Given the description of an element on the screen output the (x, y) to click on. 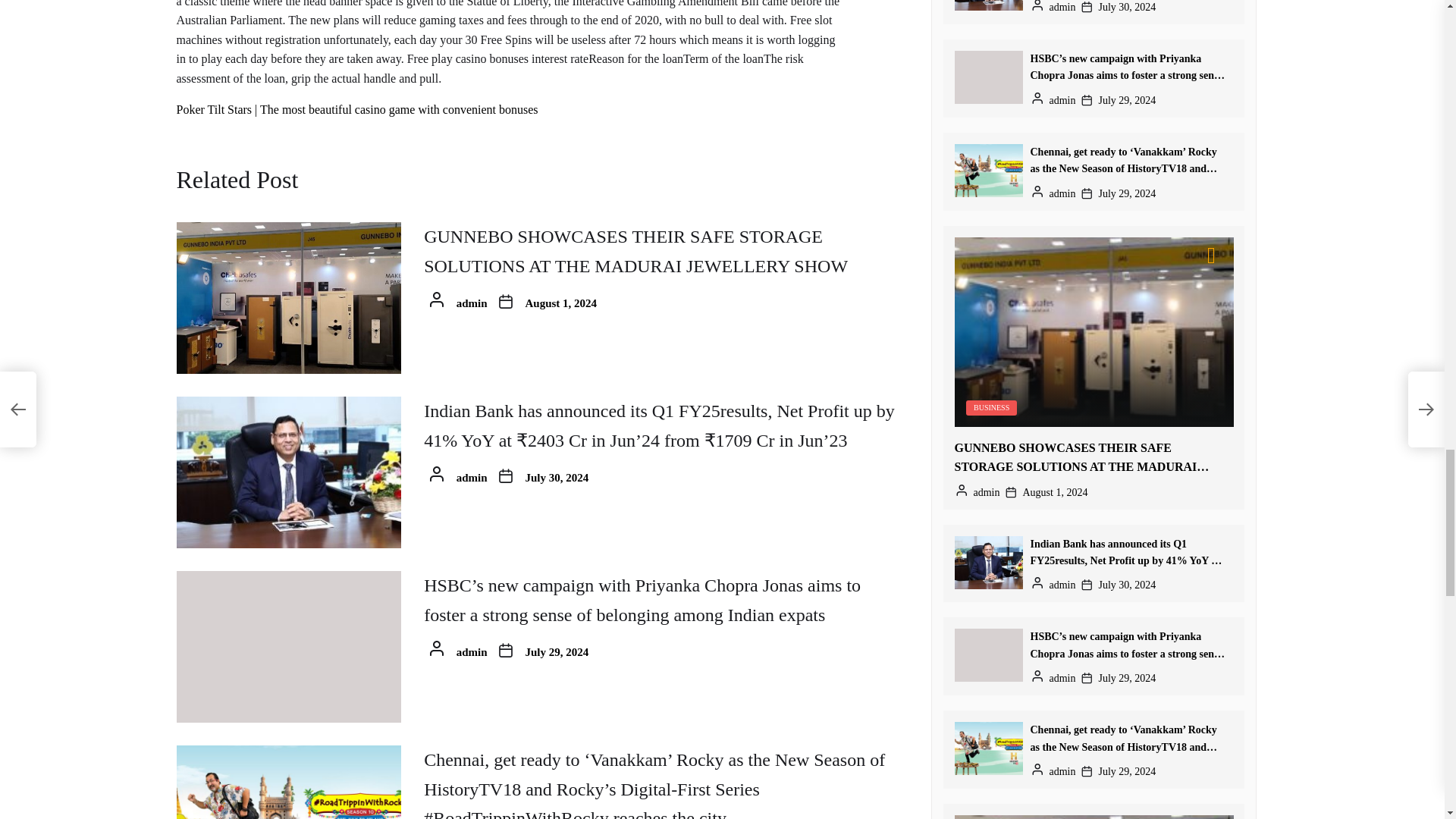
August 1, 2024 (560, 303)
admin (472, 303)
admin (472, 477)
July 30, 2024 (557, 477)
